Given the description of an element on the screen output the (x, y) to click on. 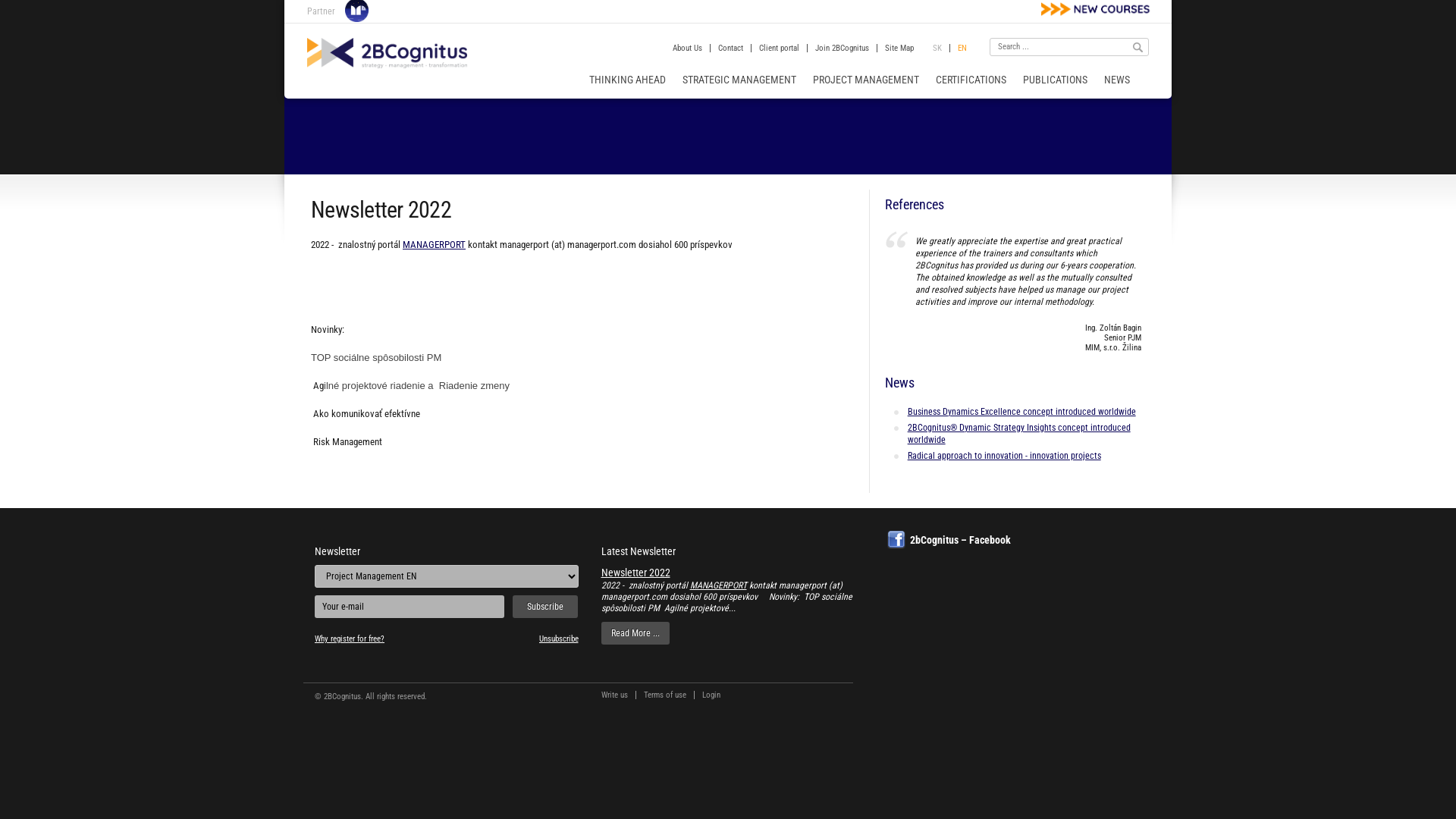
Your e-mail Element type: hover (409, 606)
Write us Element type: text (613, 694)
Unsubscribe Element type: text (557, 639)
PUBLICATIONS Element type: text (1054, 79)
Read More ... Element type: text (634, 632)
Client portal Element type: text (779, 47)
Contact Element type: text (730, 47)
NEWS Element type: text (1116, 79)
Terms of use Element type: text (664, 694)
MANAGERPORT Element type: text (718, 585)
Site Map Element type: text (898, 47)
Business Dynamics Excellence concept introduced worldwide Element type: text (1012, 411)
PROJECT MANAGEMENT Element type: text (865, 79)
Login Element type: text (711, 694)
EN Element type: text (961, 48)
2BCognitus Element type: hover (387, 52)
SK Element type: text (936, 48)
Join 2BCognitus Element type: text (842, 47)
Why register for free? Element type: text (349, 638)
MANAGERPORT Element type: text (433, 244)
CERTIFICATIONS Element type: text (970, 79)
About Us Element type: text (687, 47)
Subscribe Element type: text (545, 606)
STRATEGIC MANAGEMENT Element type: text (739, 79)
THINKING AHEAD Element type: text (627, 79)
Newsletter 2022 Element type: text (634, 572)
Radical approach to innovation - innovation projects Element type: text (1012, 455)
